Given the description of an element on the screen output the (x, y) to click on. 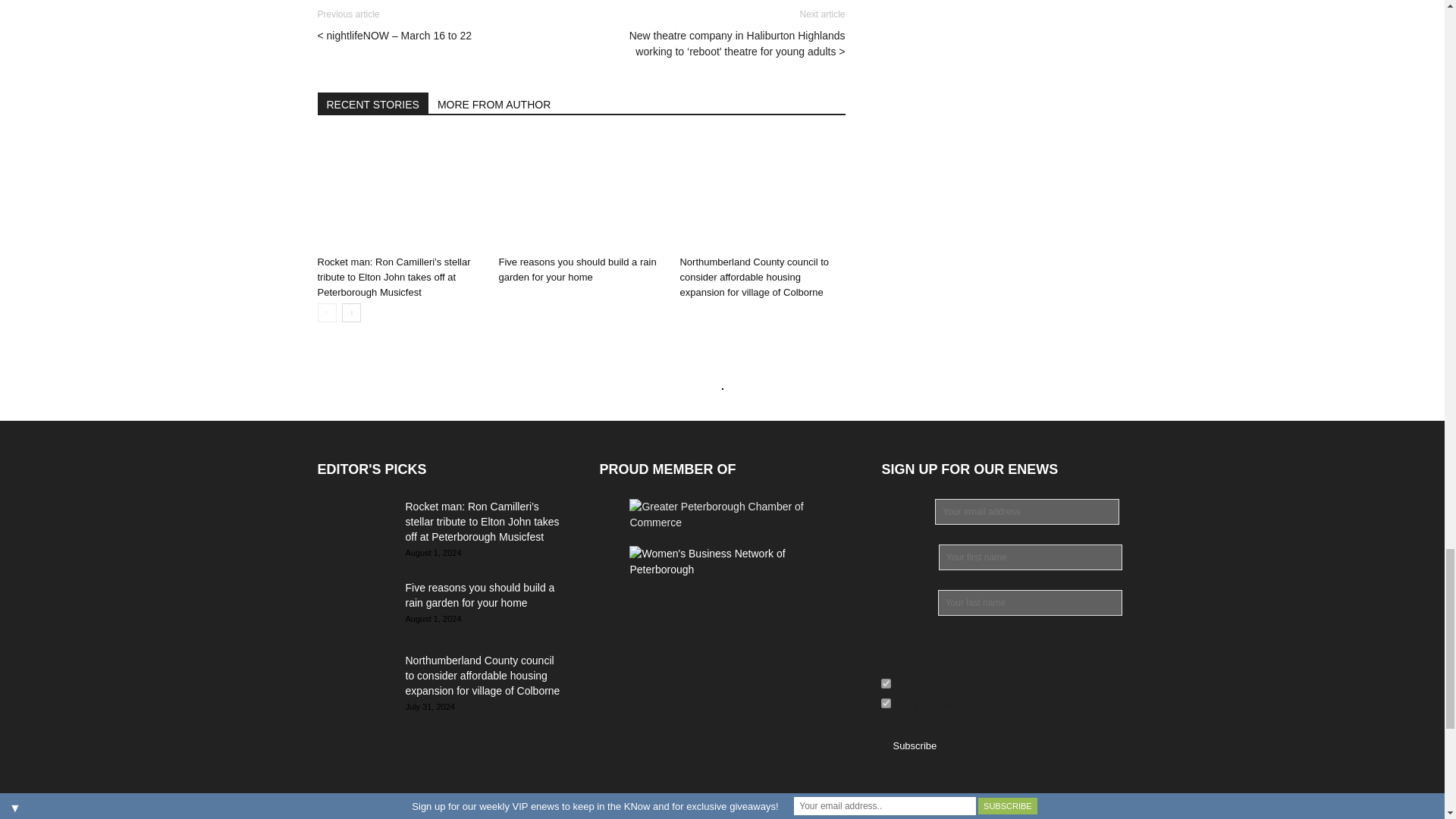
324c67885b (885, 703)
Subscribe (913, 745)
db73b12d6e (885, 683)
